Given the description of an element on the screen output the (x, y) to click on. 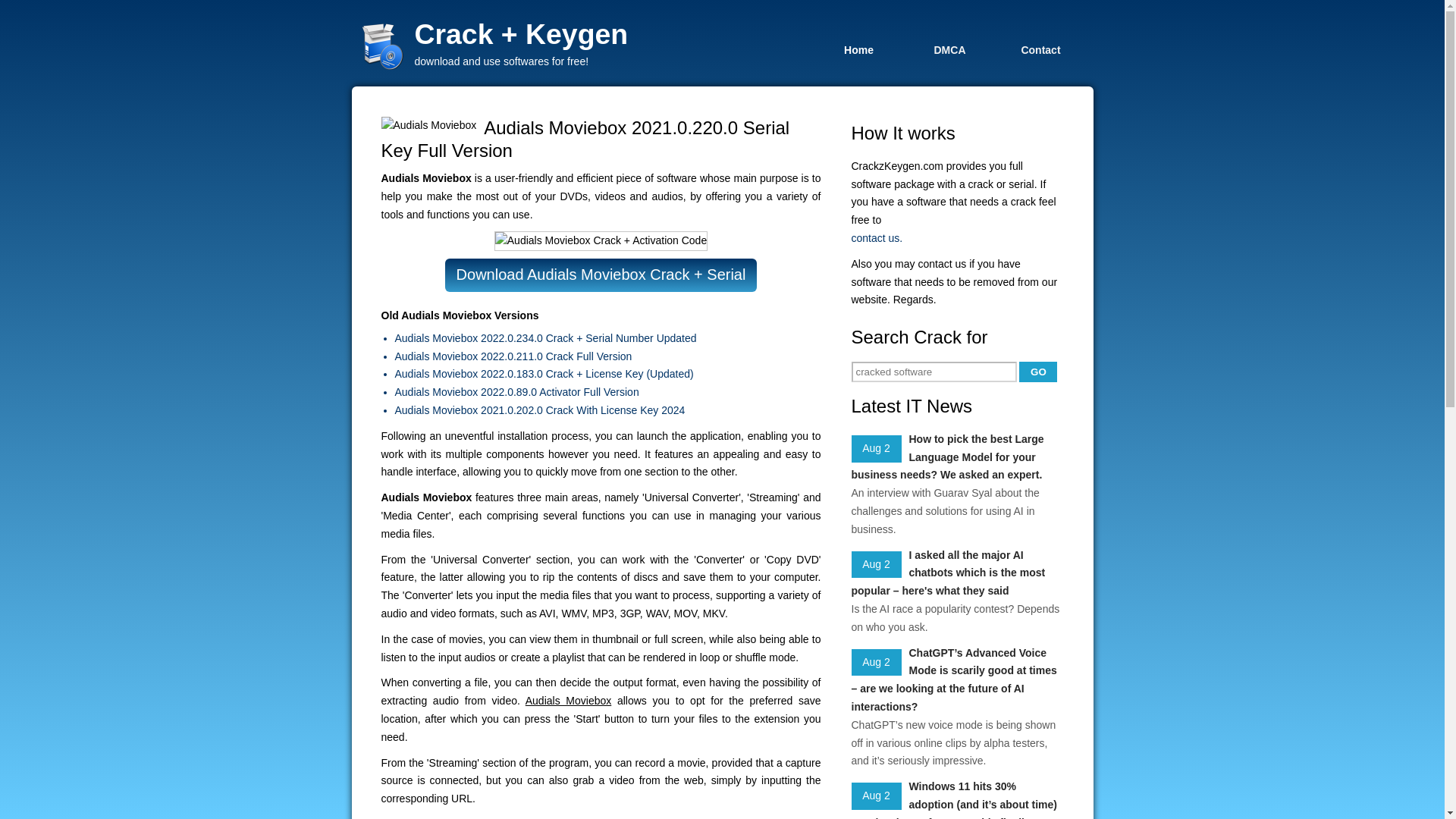
Contact (1040, 48)
Home (858, 48)
GO (1038, 371)
Audials Moviebox 2021.0.202.0 Crack With License Key 2024 (607, 411)
DMCA (949, 48)
GO (1038, 371)
contact us. (956, 239)
Audials Moviebox 2022.0.211.0 Crack Full Version (607, 357)
Audials Moviebox 2022.0.89.0 Activator Full Version (607, 393)
